Given the description of an element on the screen output the (x, y) to click on. 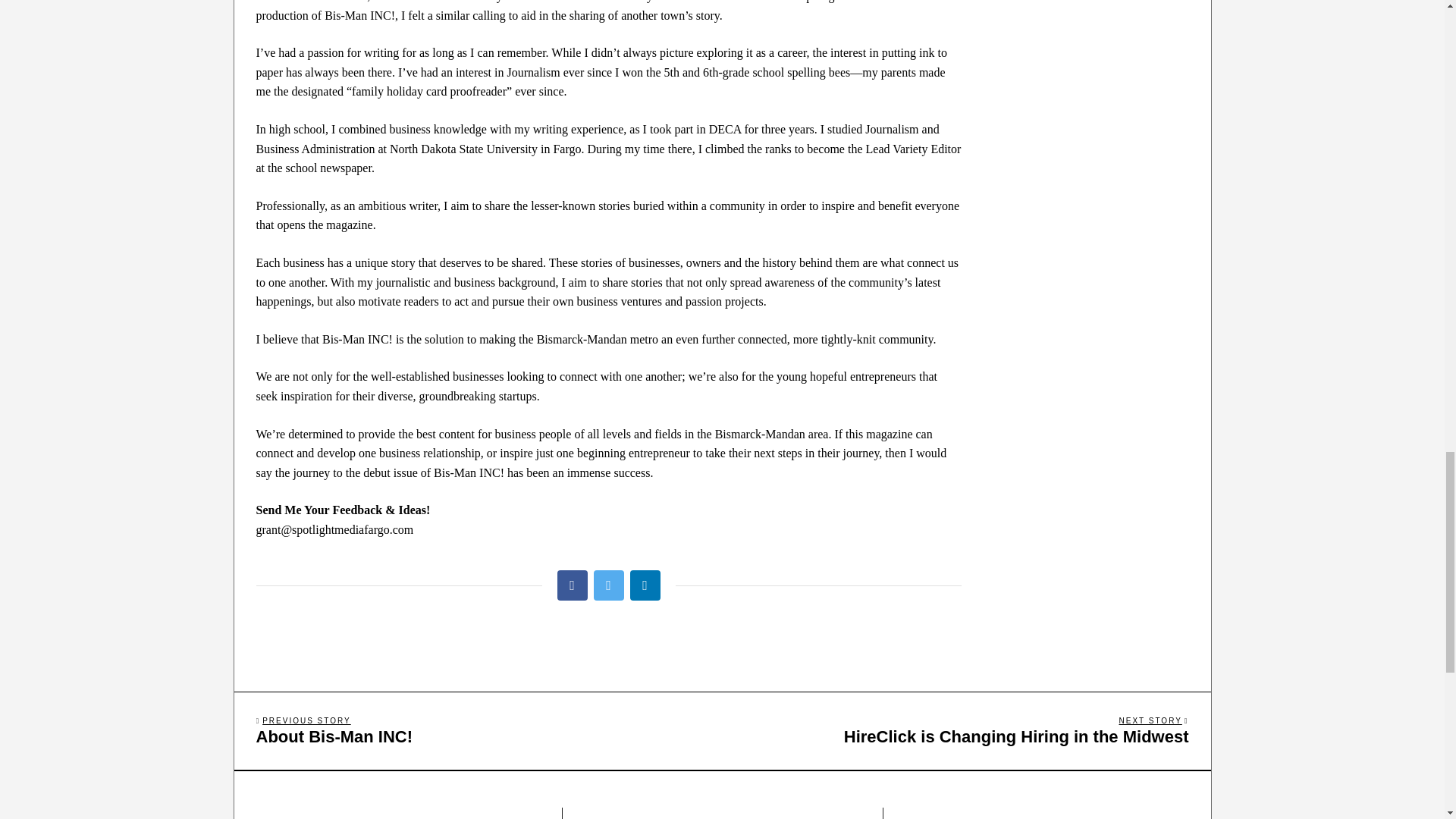
Linkedin (643, 585)
Facebook (484, 730)
Twitter (959, 730)
